Given the description of an element on the screen output the (x, y) to click on. 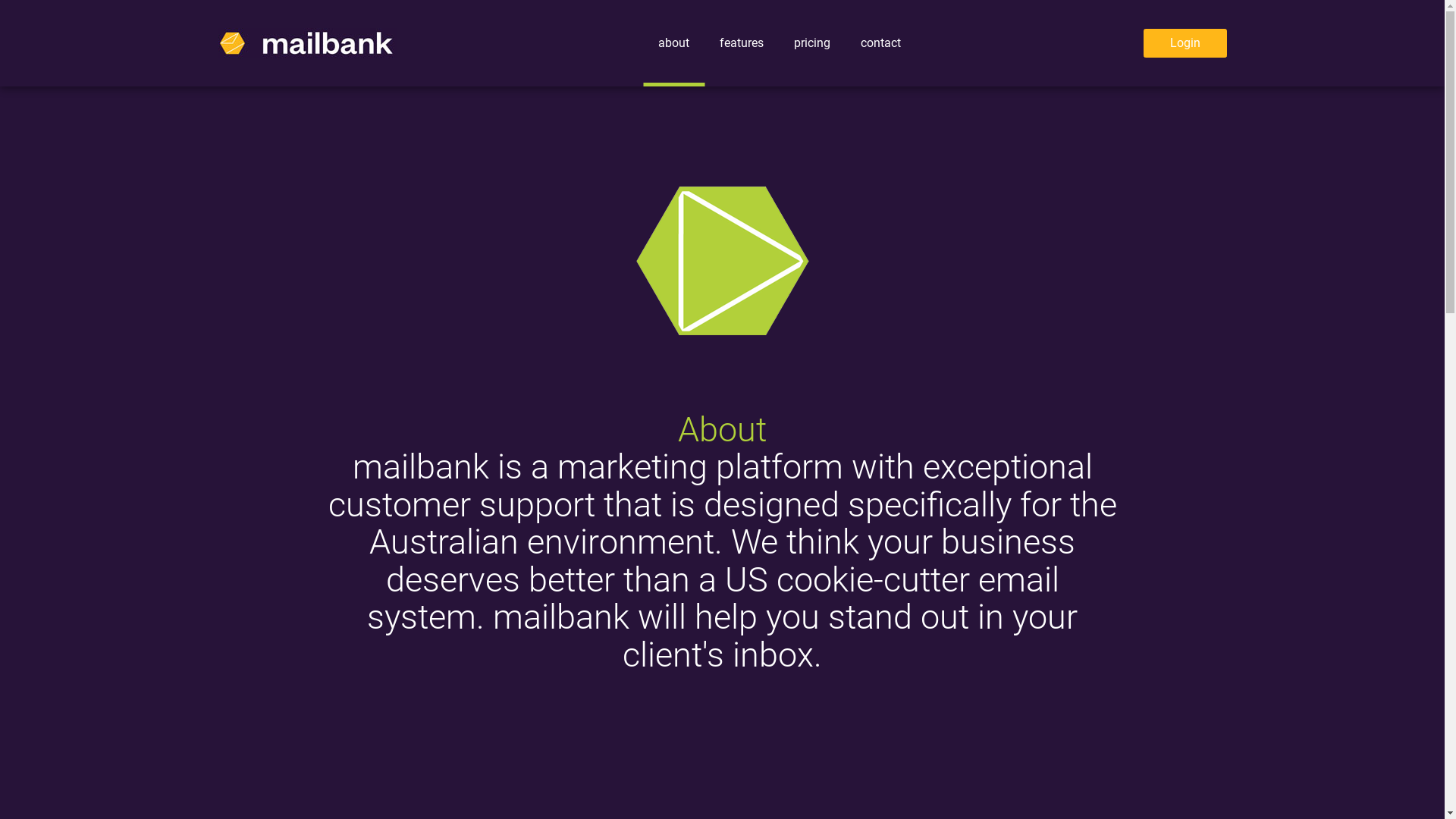
pricing Element type: text (811, 43)
Login Element type: text (1184, 42)
contact Element type: text (880, 43)
about Element type: text (673, 43)
features Element type: text (741, 43)
